Given the description of an element on the screen output the (x, y) to click on. 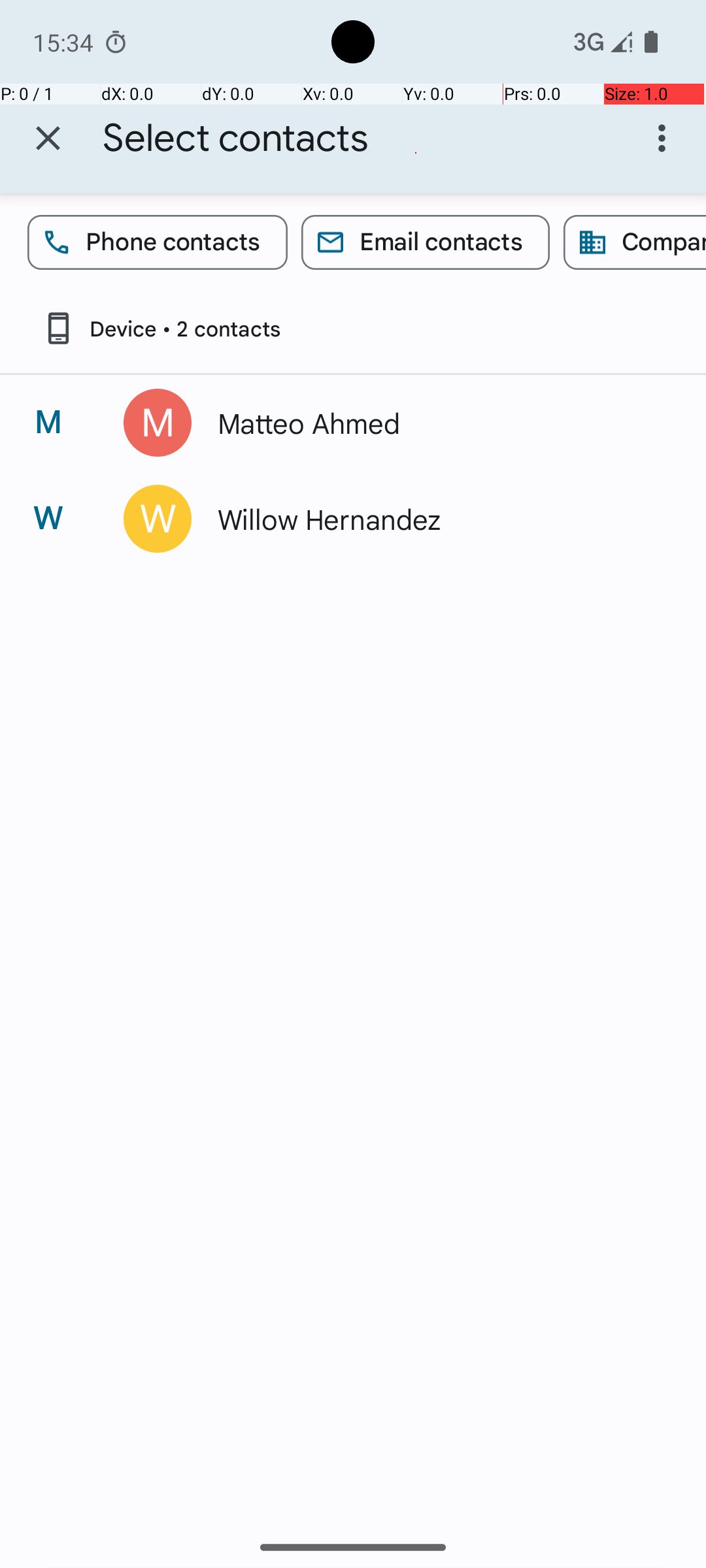
close Element type: android.widget.ImageButton (48, 138)
Select contacts Element type: android.widget.TextView (235, 138)
Device • 2 contacts Element type: android.widget.TextView (161, 328)
Matteo Ahmed Element type: android.widget.TextView (434, 422)
Willow Hernandez Element type: android.widget.TextView (434, 518)
